Given the description of an element on the screen output the (x, y) to click on. 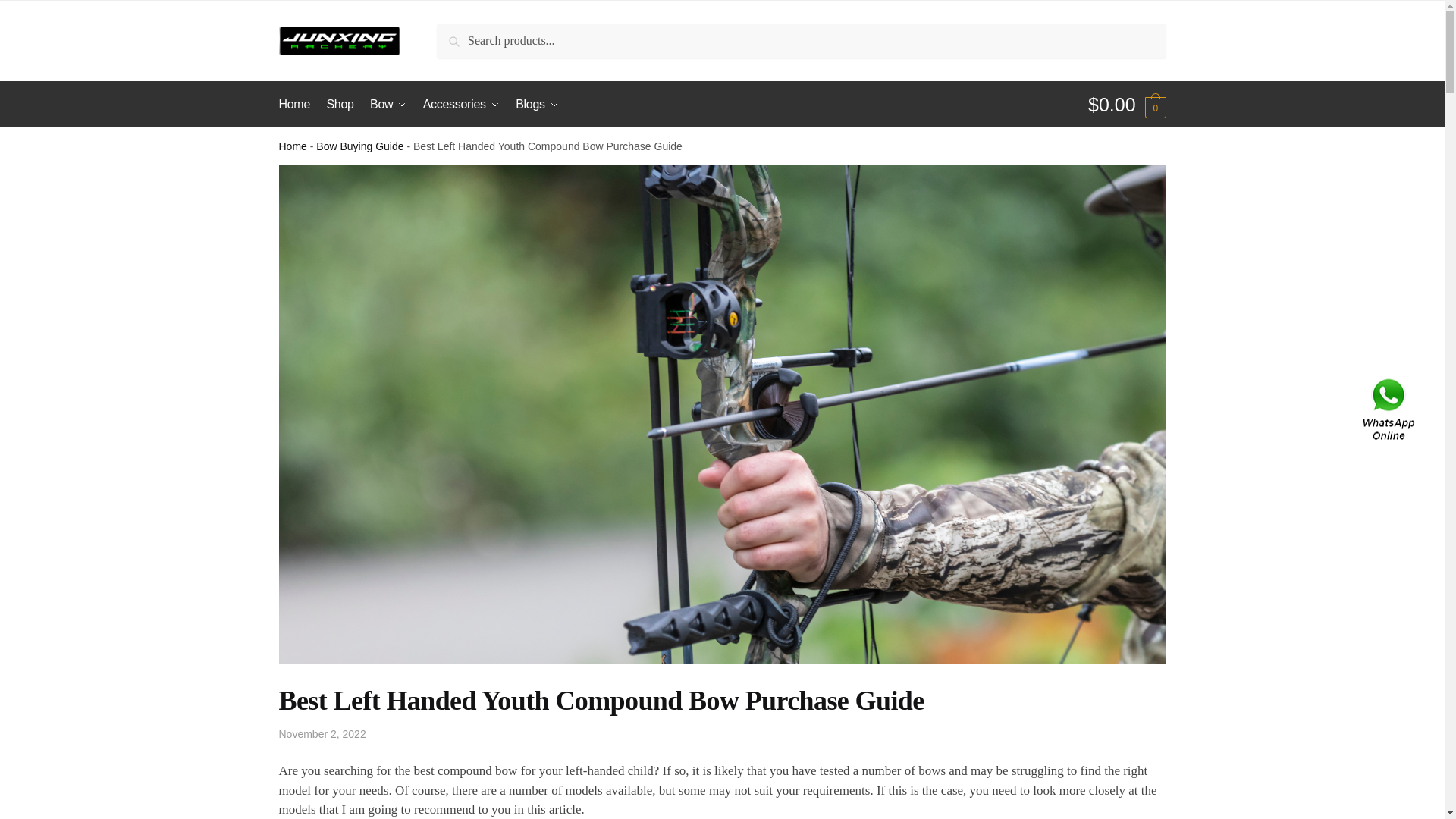
Bow (388, 104)
Home (293, 146)
View your shopping cart (1126, 104)
Blogs (536, 104)
Search (471, 40)
Bow Buying Guide (359, 146)
Accessories (460, 104)
